Given the description of an element on the screen output the (x, y) to click on. 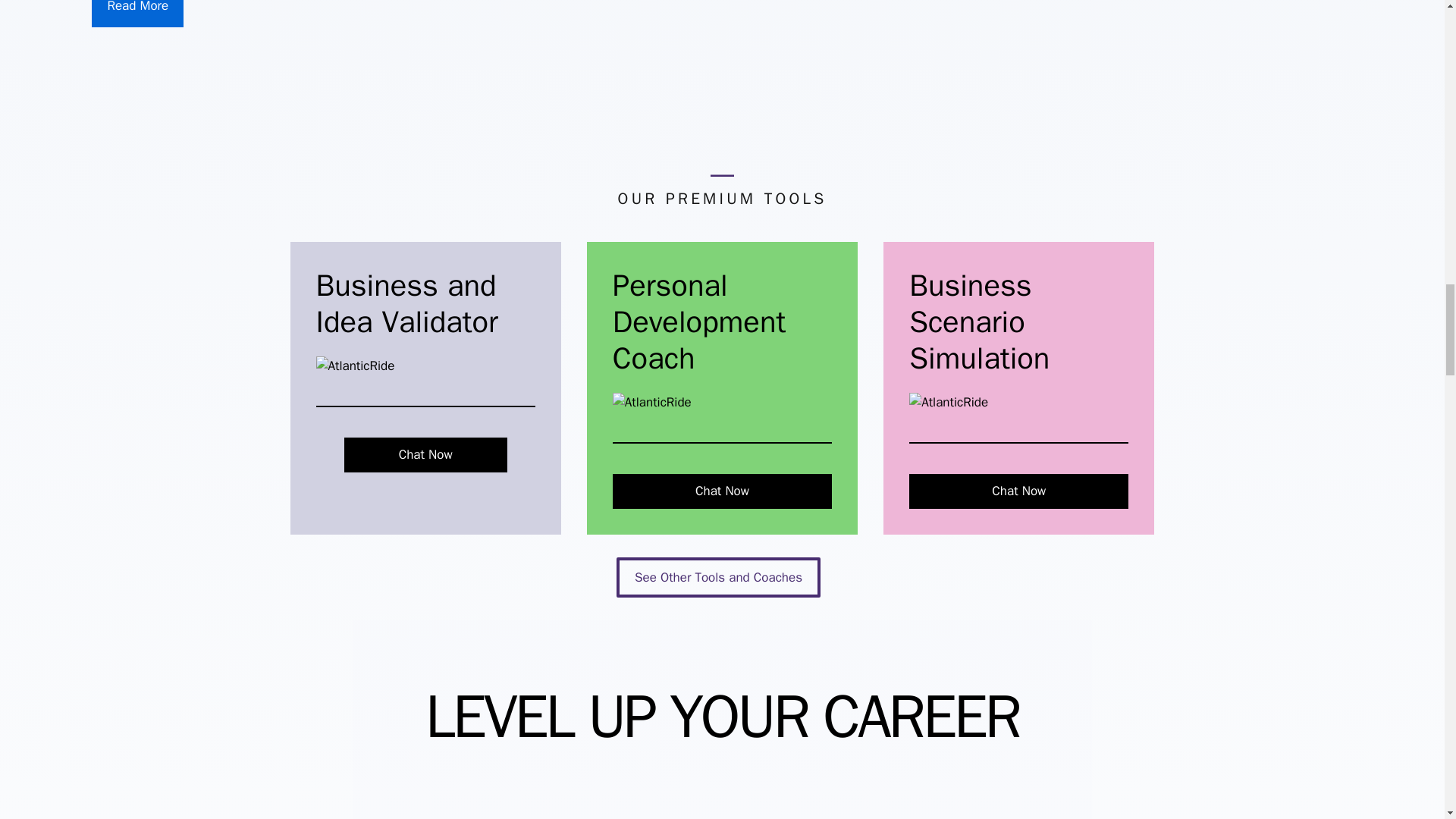
Home 10 (651, 402)
See Other Tools and Coaches (718, 577)
Home 9 (354, 365)
Read More (137, 13)
Chat Now (721, 491)
Chat Now (424, 454)
Chat Now (1018, 491)
Home 11 (948, 402)
